Given the description of an element on the screen output the (x, y) to click on. 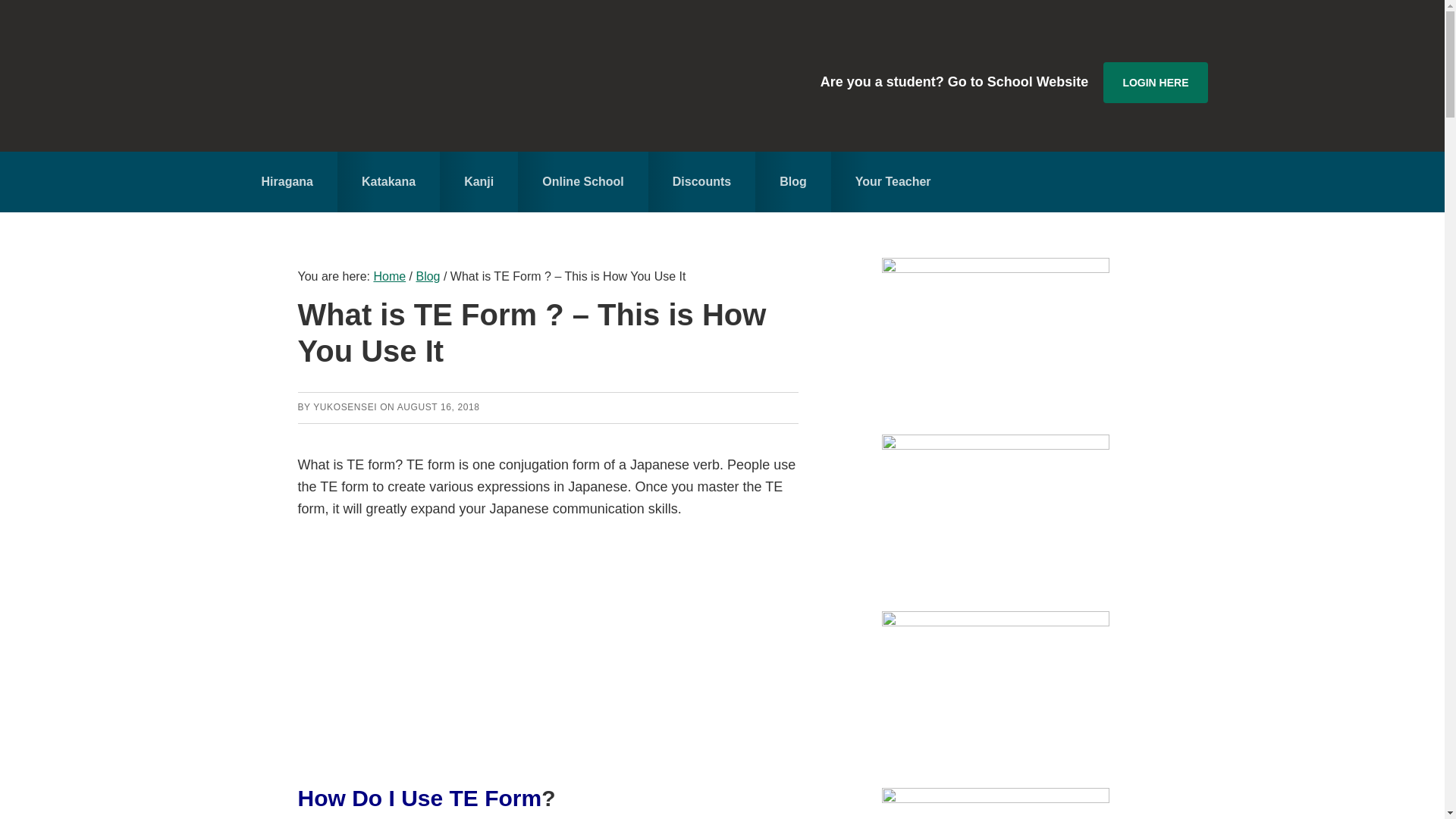
Online School (582, 181)
Katakana (388, 181)
Kanji (478, 181)
YUKOSENSEI (345, 407)
LOGIN HERE (1155, 82)
Blog (426, 276)
Discounts (701, 181)
Smile Nihongo Academy - Information Site (398, 75)
Home (389, 276)
